Given the description of an element on the screen output the (x, y) to click on. 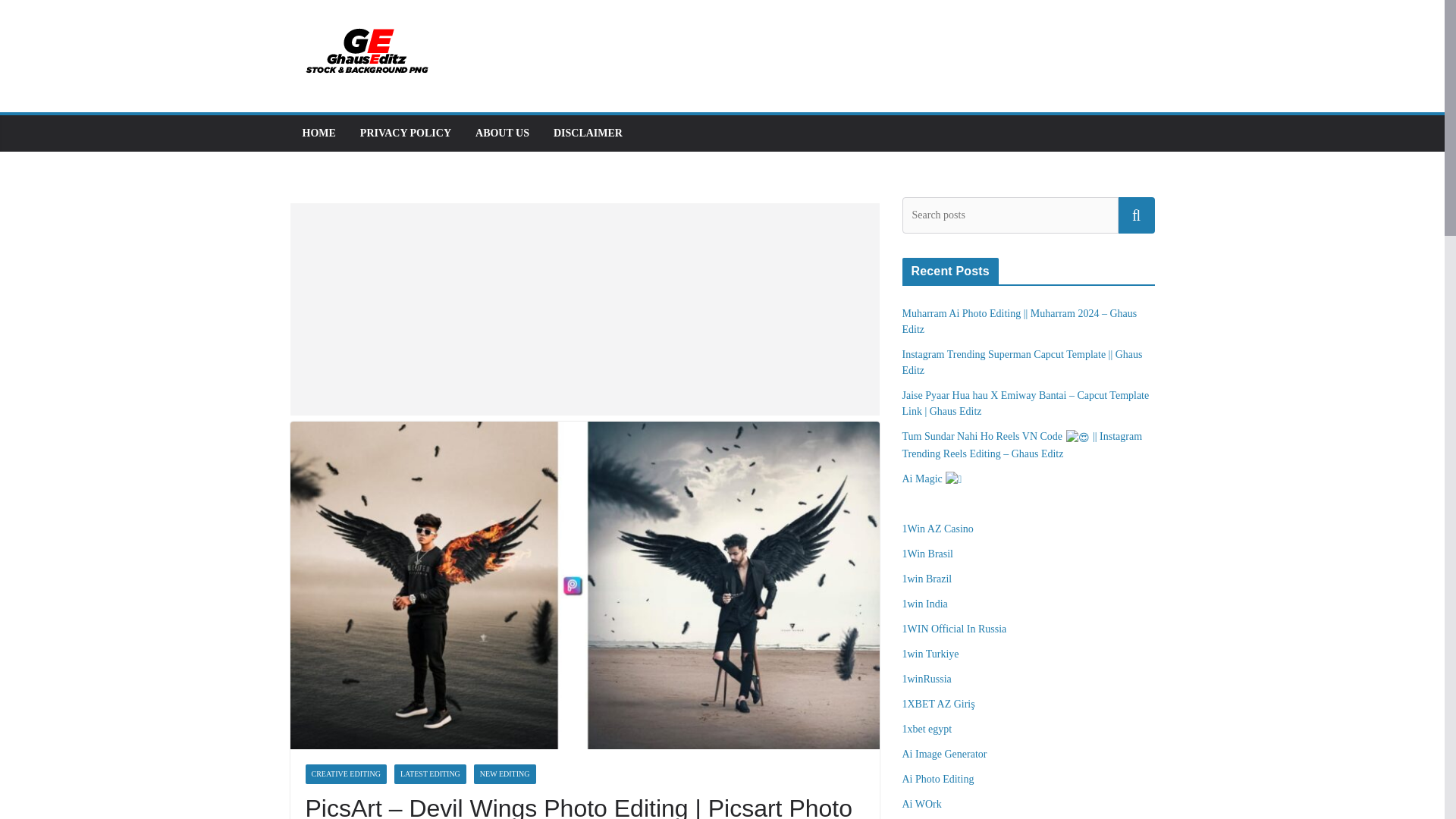
Ai Magic (932, 478)
1Win AZ Casino (938, 528)
1win Brazil (927, 578)
Search (1136, 215)
1win India (924, 603)
NEW EDITING (504, 773)
1Win Brasil (927, 553)
1win Turkiye (930, 654)
PRIVACY POLICY (405, 133)
LATEST EDITING (429, 773)
